Given the description of an element on the screen output the (x, y) to click on. 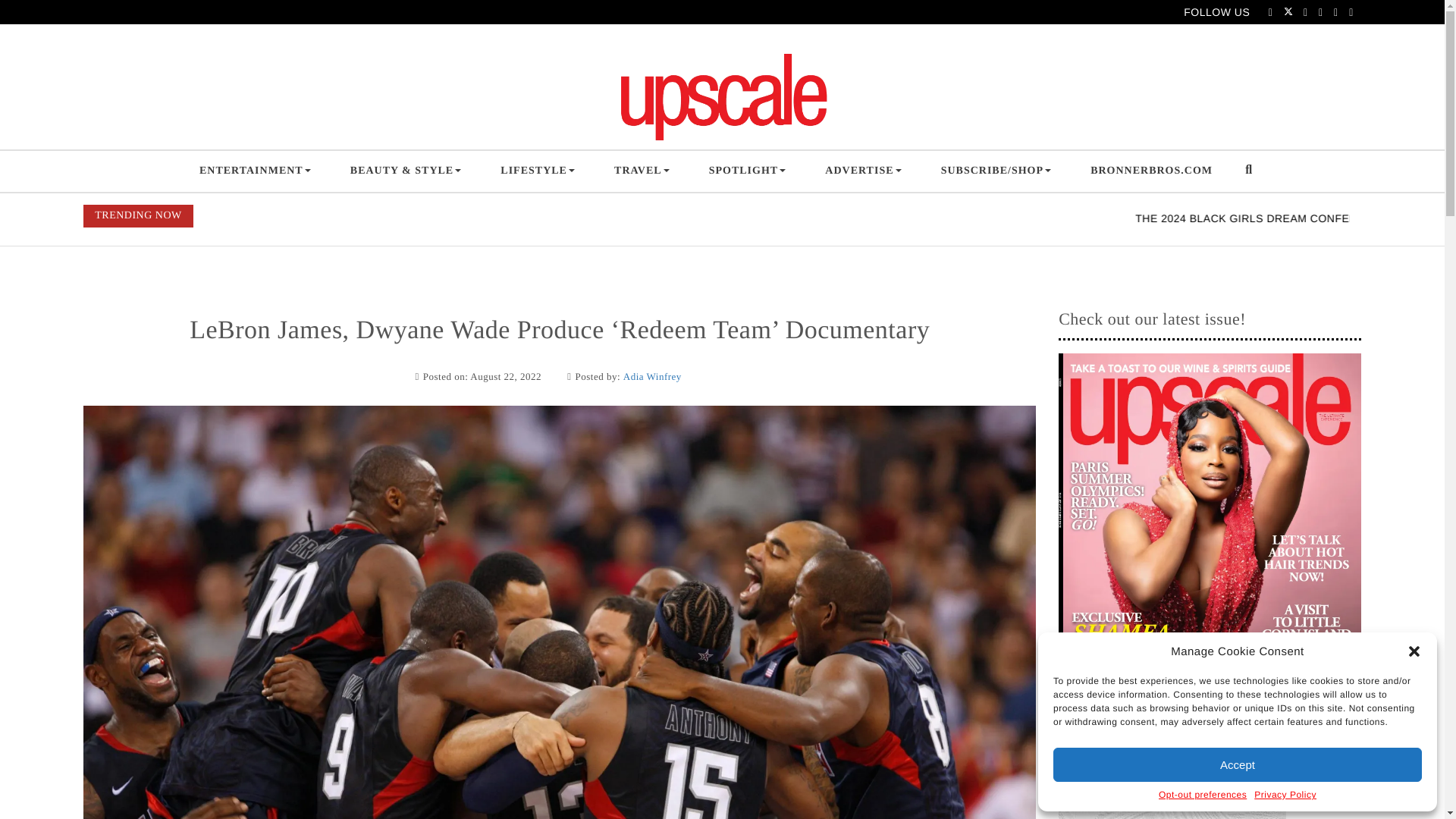
Accept (1237, 764)
Upscale Magazine (573, 153)
ENTERTAINMENT (254, 170)
Opt-out preferences (1202, 794)
Privacy Policy (1284, 794)
LIFESTYLE (536, 170)
Current Issue (1209, 549)
